Given the description of an element on the screen output the (x, y) to click on. 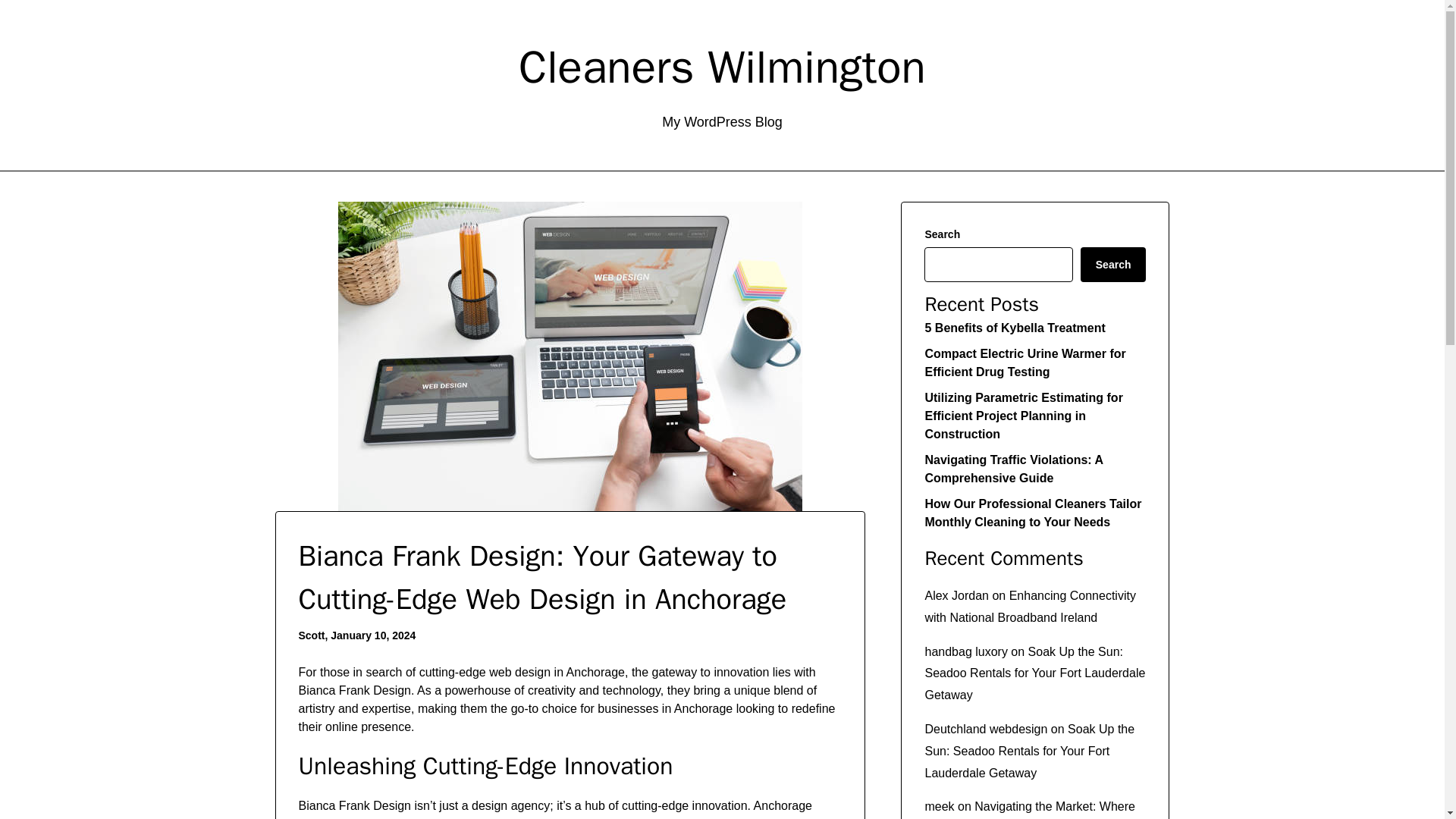
Compact Electric Urine Warmer for Efficient Drug Testing (1024, 362)
Enhancing Connectivity with National Broadband Ireland (1029, 606)
January 10, 2024 (372, 635)
Cleaners Wilmington (722, 67)
Search (1113, 264)
handbag luxory (965, 651)
5 Benefits of Kybella Treatment (1014, 327)
meek (938, 806)
Navigating Traffic Violations: A Comprehensive Guide (1013, 468)
Deutchland webdesign (985, 728)
